Given the description of an element on the screen output the (x, y) to click on. 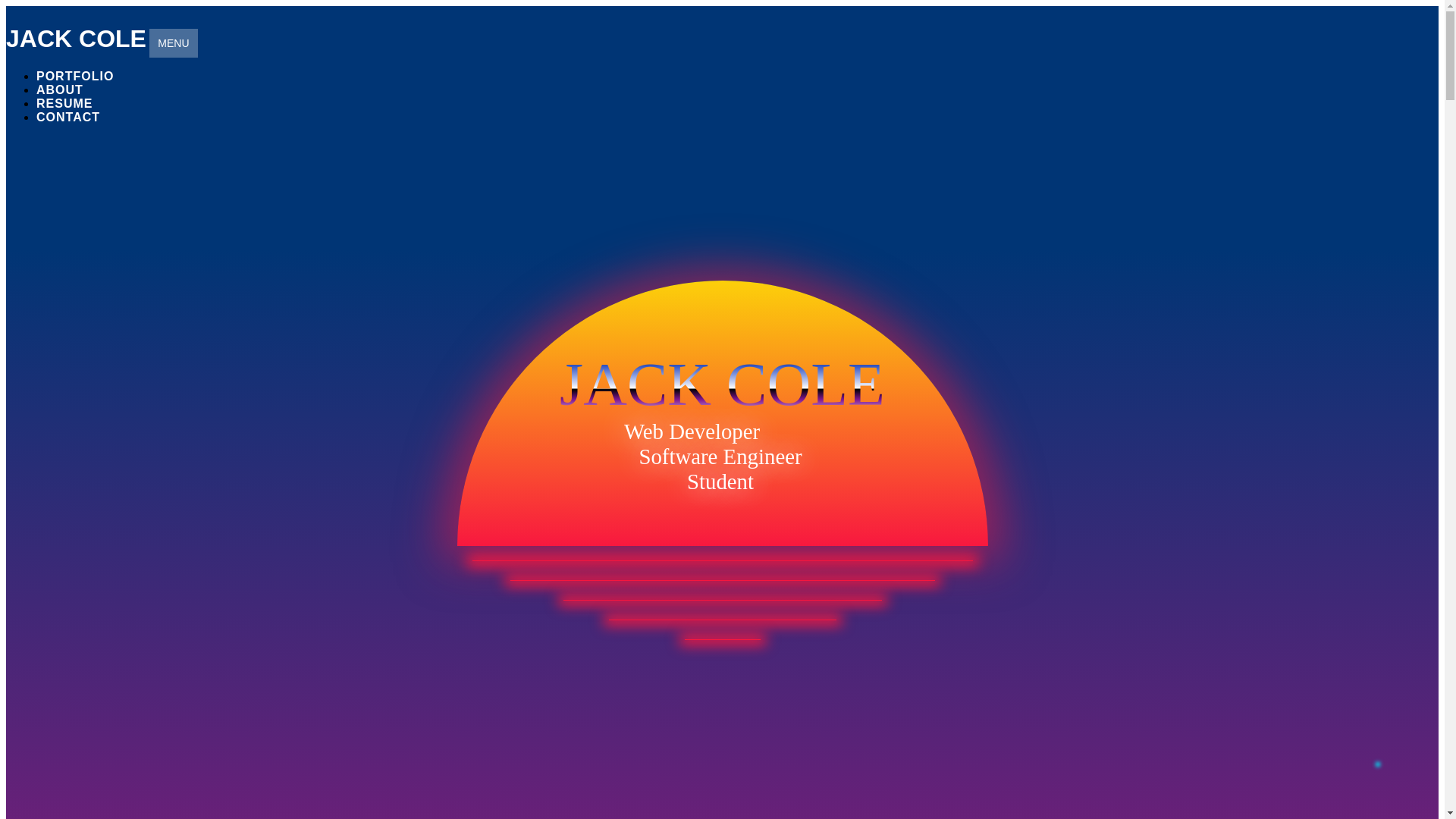
PORTFOLIO (74, 75)
JACK COLE (76, 38)
RESUME (64, 103)
ABOUT (59, 89)
ABOUT (59, 89)
RESUME (64, 103)
CONTACT (68, 116)
MENU (172, 42)
JACK COLE (76, 38)
PORTFOLIO (74, 75)
CONTACT (68, 116)
